Given the description of an element on the screen output the (x, y) to click on. 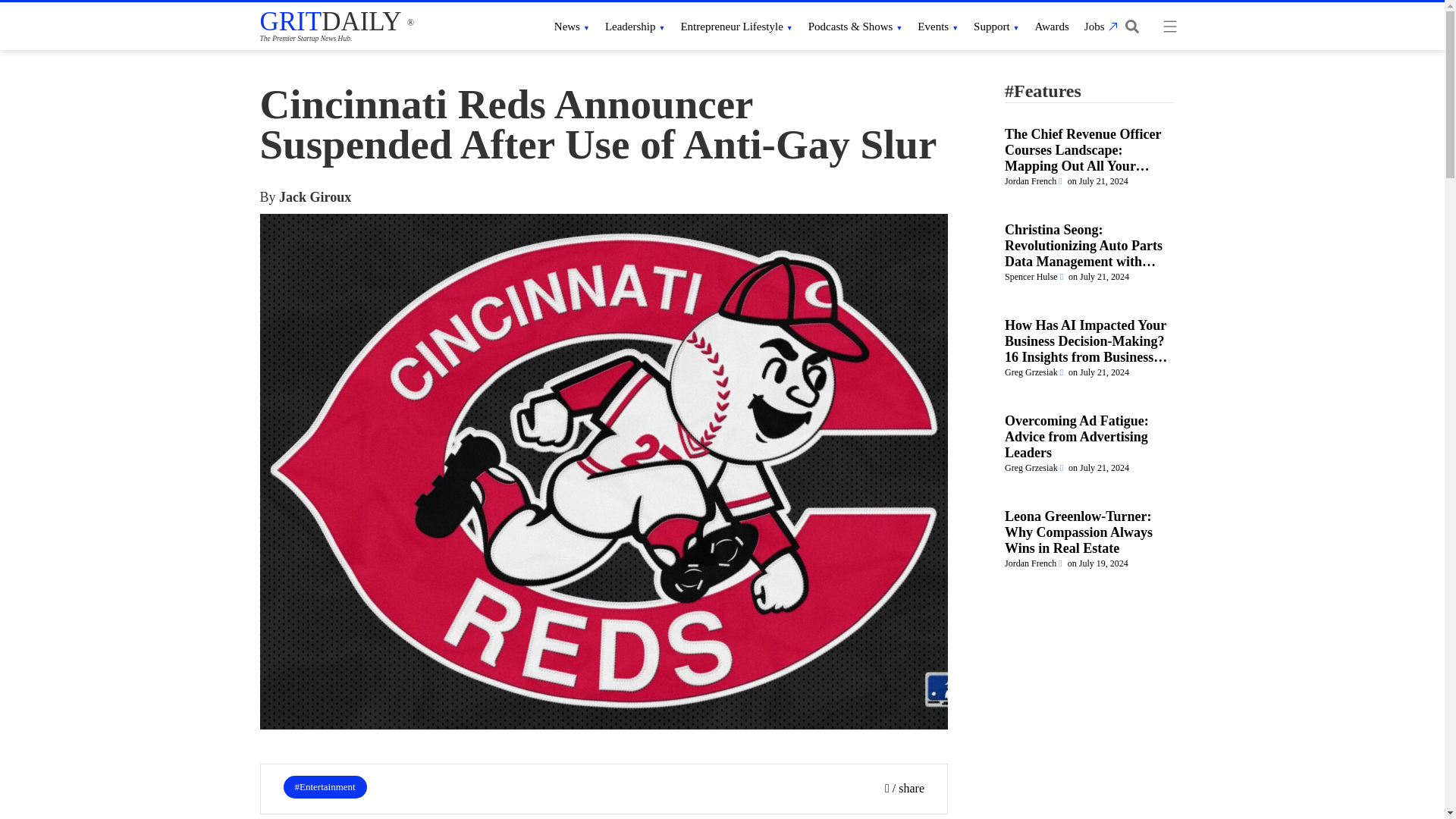
Jobs (1098, 25)
Leadership (635, 25)
News (571, 25)
Awards (1051, 25)
Entrepreneur Lifestyle (735, 25)
Support (996, 25)
Events (937, 25)
